Given the description of an element on the screen output the (x, y) to click on. 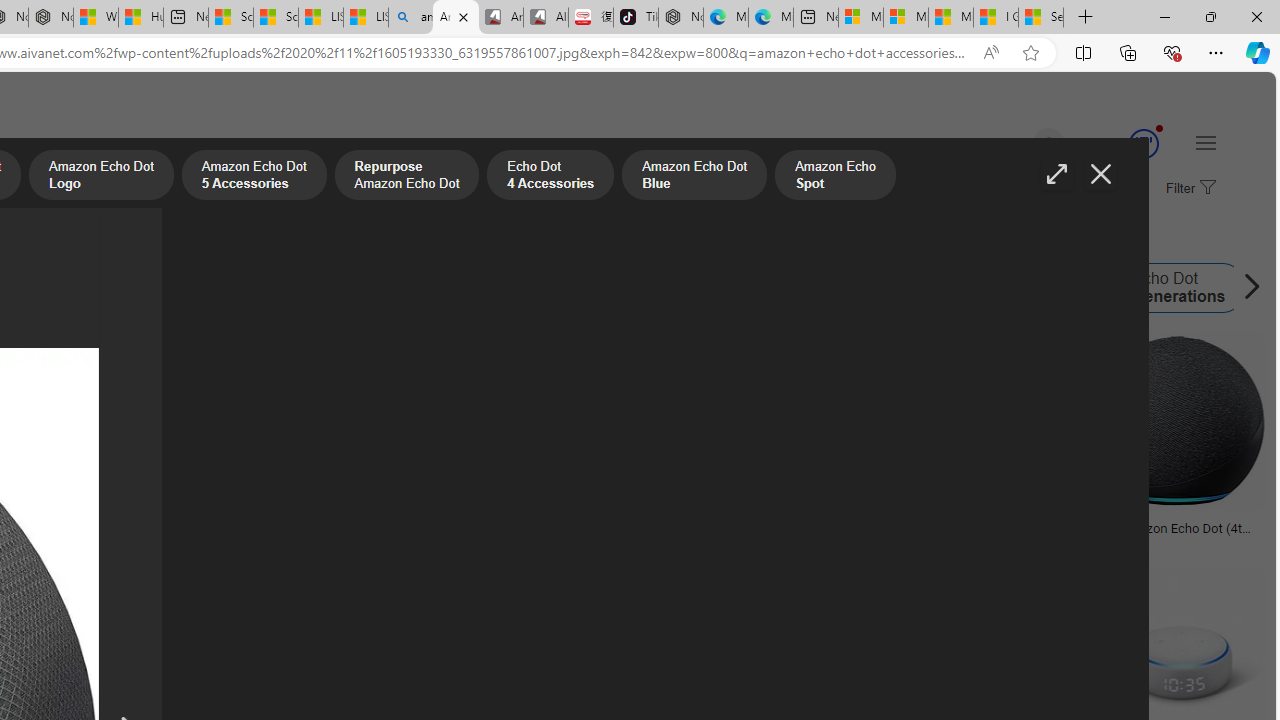
Repurpose Amazon Echo Dot (406, 177)
Class: outer-circle-animation (1143, 143)
Amazon Echo Dot Png 542 Download (96, 534)
Amazon Echo Dot 5 Accessories (253, 177)
Image result for Amazon Echo Dot PNG (1175, 421)
croma.com (1128, 541)
Microsoft account | Privacy (905, 17)
pngkey.com (589, 542)
Class: medal-svg-animation (1143, 143)
Settings and quick links (1205, 142)
